Given the description of an element on the screen output the (x, y) to click on. 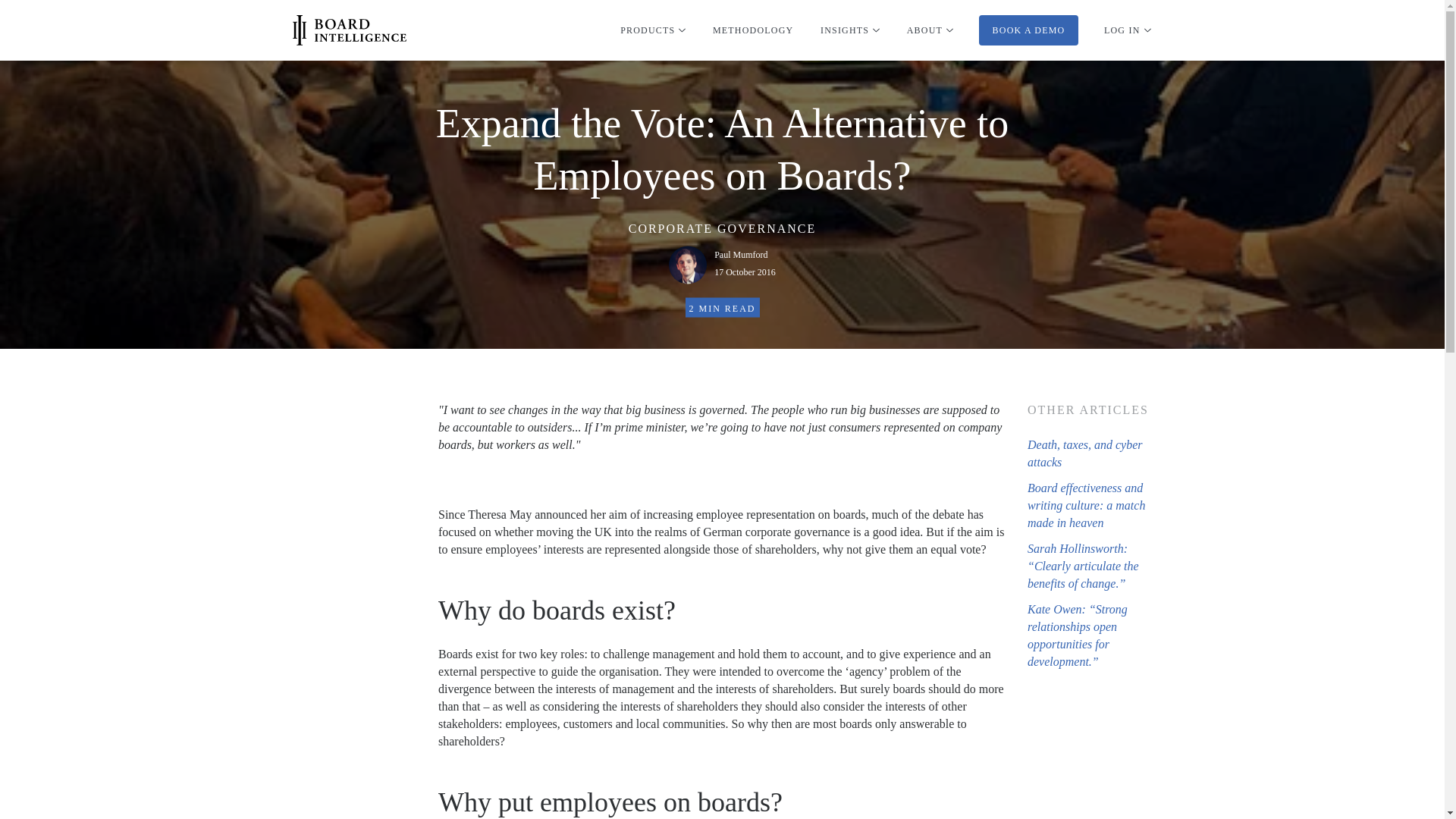
BOOK A DEMO (1028, 30)
View Paul Mumford Page (745, 262)
METHODOLOGY (745, 262)
